Given the description of an element on the screen output the (x, y) to click on. 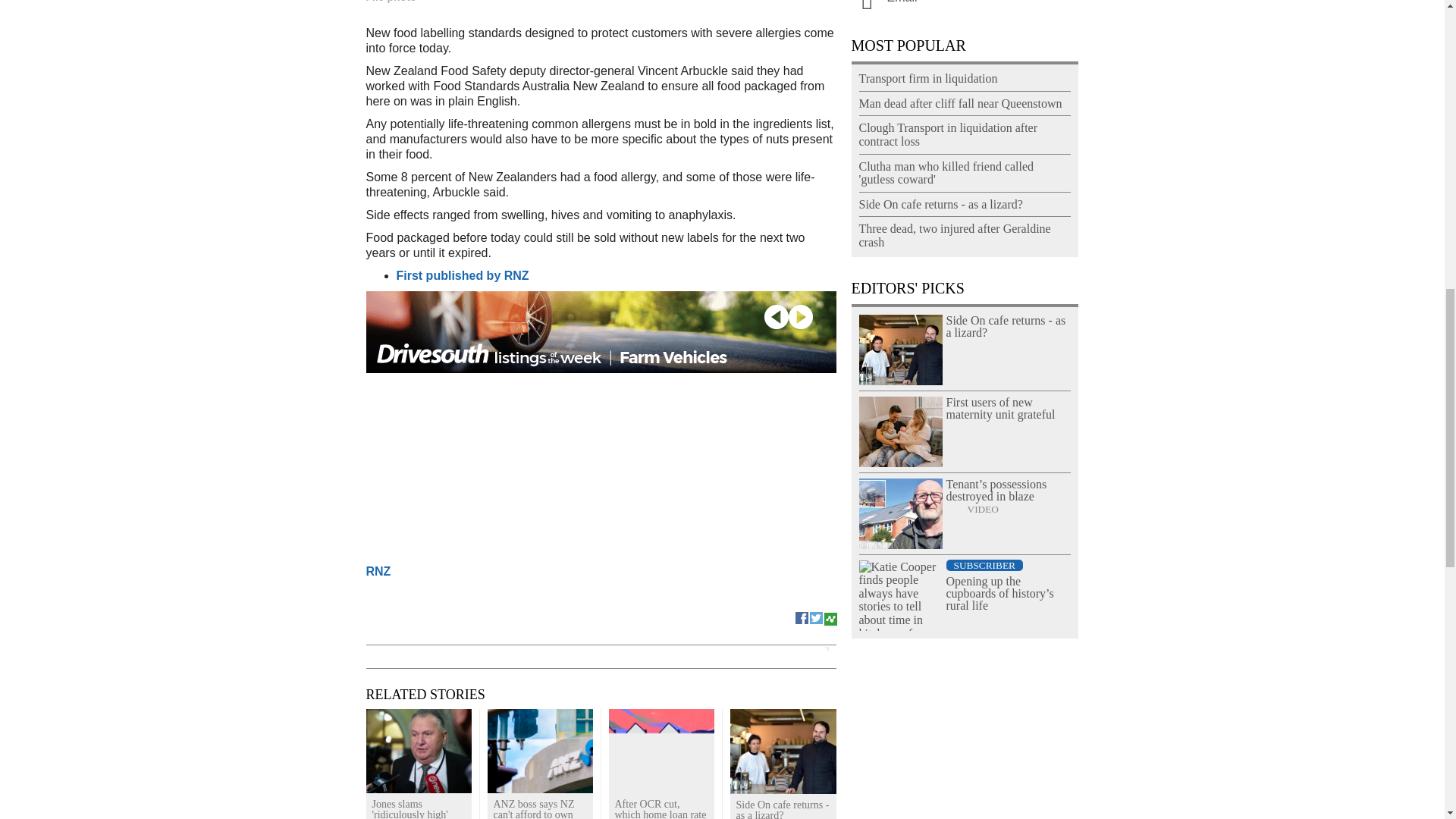
Facebook (801, 616)
Twitter (816, 616)
ShareThis (829, 616)
